Given the description of an element on the screen output the (x, y) to click on. 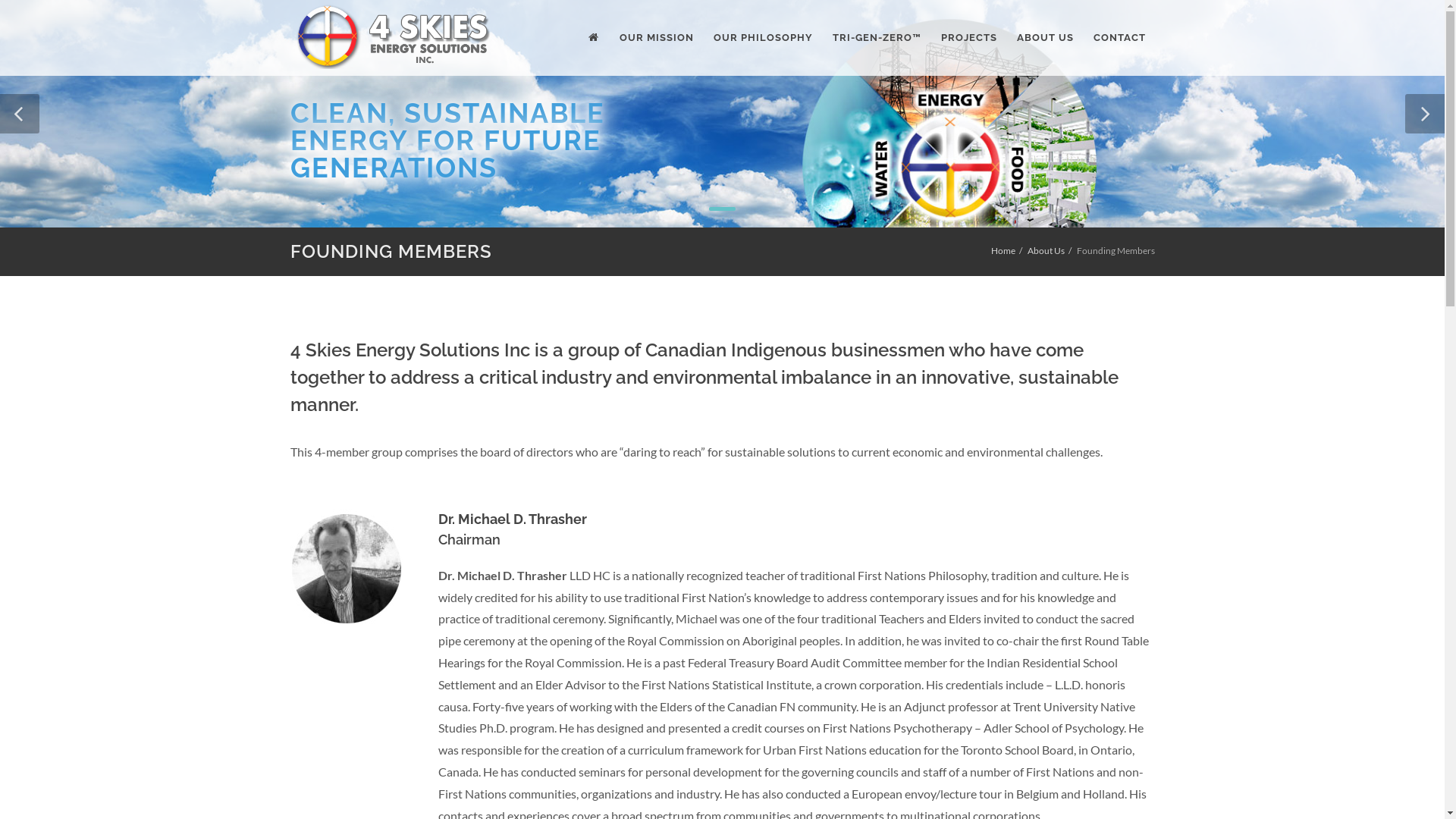
About Us Element type: text (1044, 250)
ABOUT US Element type: text (1044, 37)
OUR MISSION Element type: text (655, 37)
Home Element type: text (1002, 250)
OUR PHILOSOPHY Element type: text (762, 37)
PROJECTS Element type: text (968, 37)
CONTACT Element type: text (1119, 37)
